Given the description of an element on the screen output the (x, y) to click on. 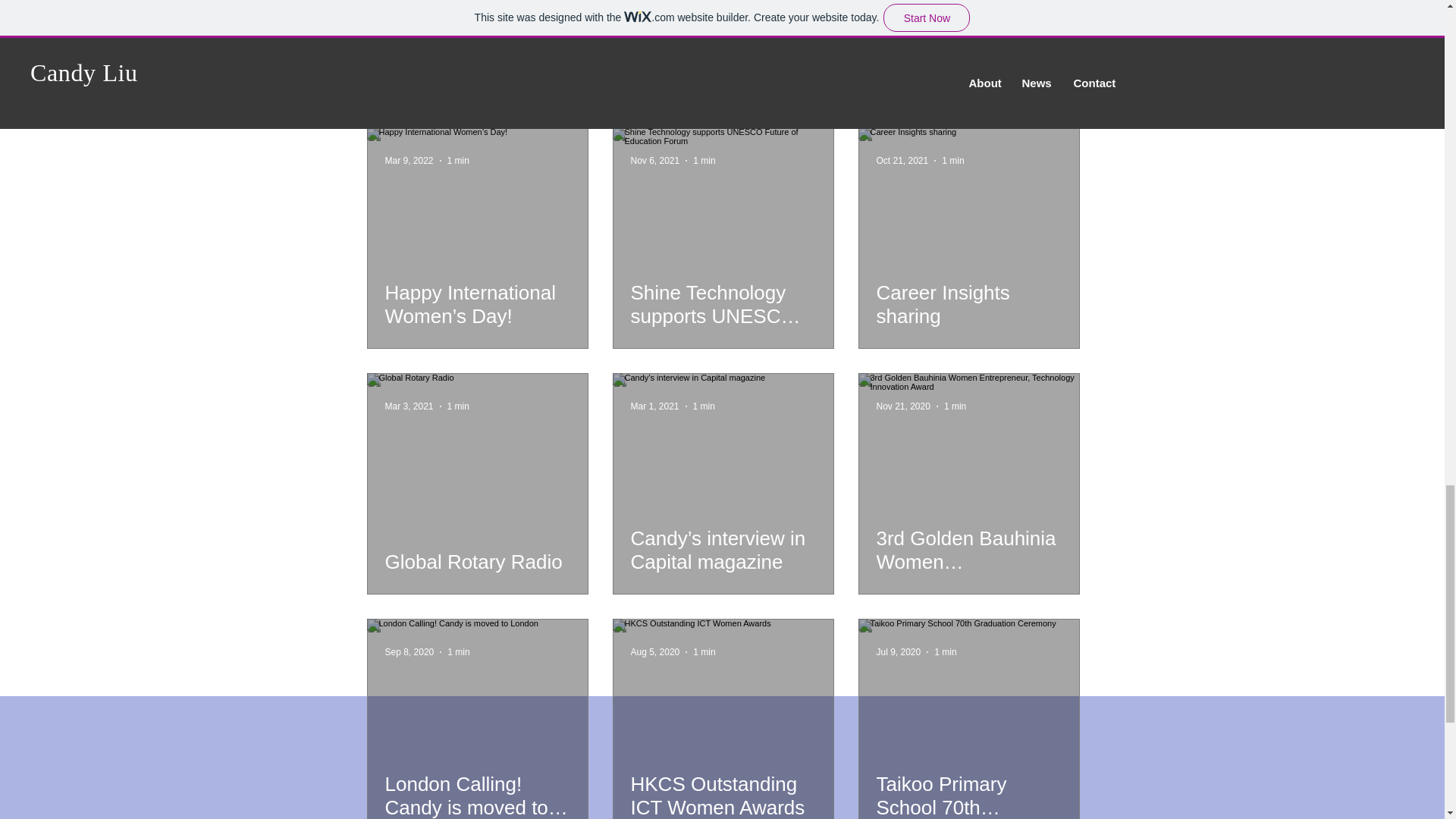
London Calling! Candy is moved to London (477, 795)
Mar 9, 2022 (409, 160)
Oct 21, 2021 (902, 160)
Sep 8, 2020 (409, 652)
Global Rotary Radio (477, 561)
Mar 1, 2021 (654, 406)
1 min (703, 406)
1 min (945, 652)
Nov 6, 2021 (654, 160)
